Given the description of an element on the screen output the (x, y) to click on. 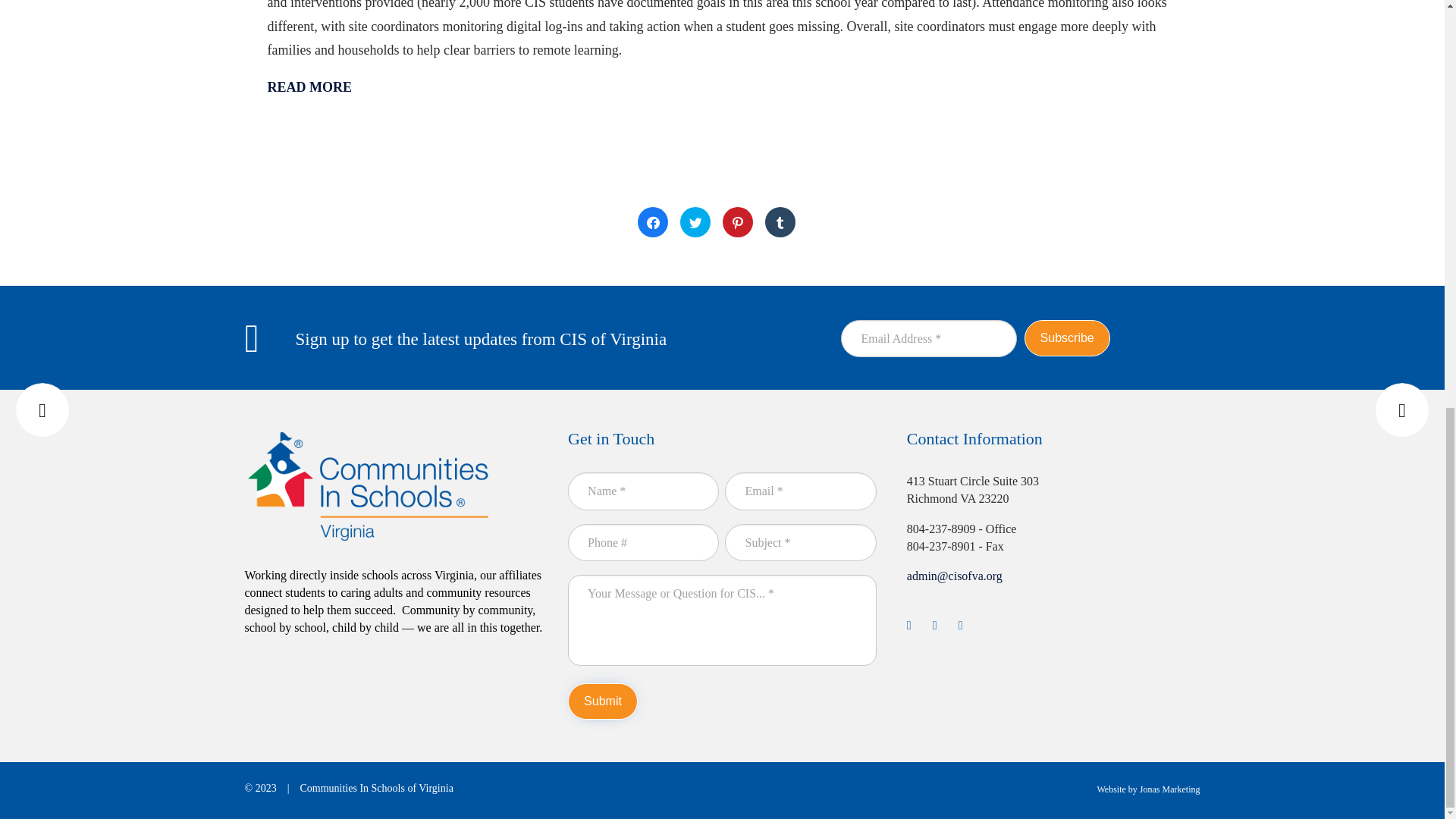
Submit (602, 701)
Subscribe (1067, 338)
804-237-8909 (941, 529)
Click to share on Tumblr (779, 222)
CIS of Virginia (368, 485)
Click to share on Pinterest (737, 222)
READ MORE (309, 87)
Click to share on Twitter (694, 222)
Click to share on Facebook (651, 222)
